Given the description of an element on the screen output the (x, y) to click on. 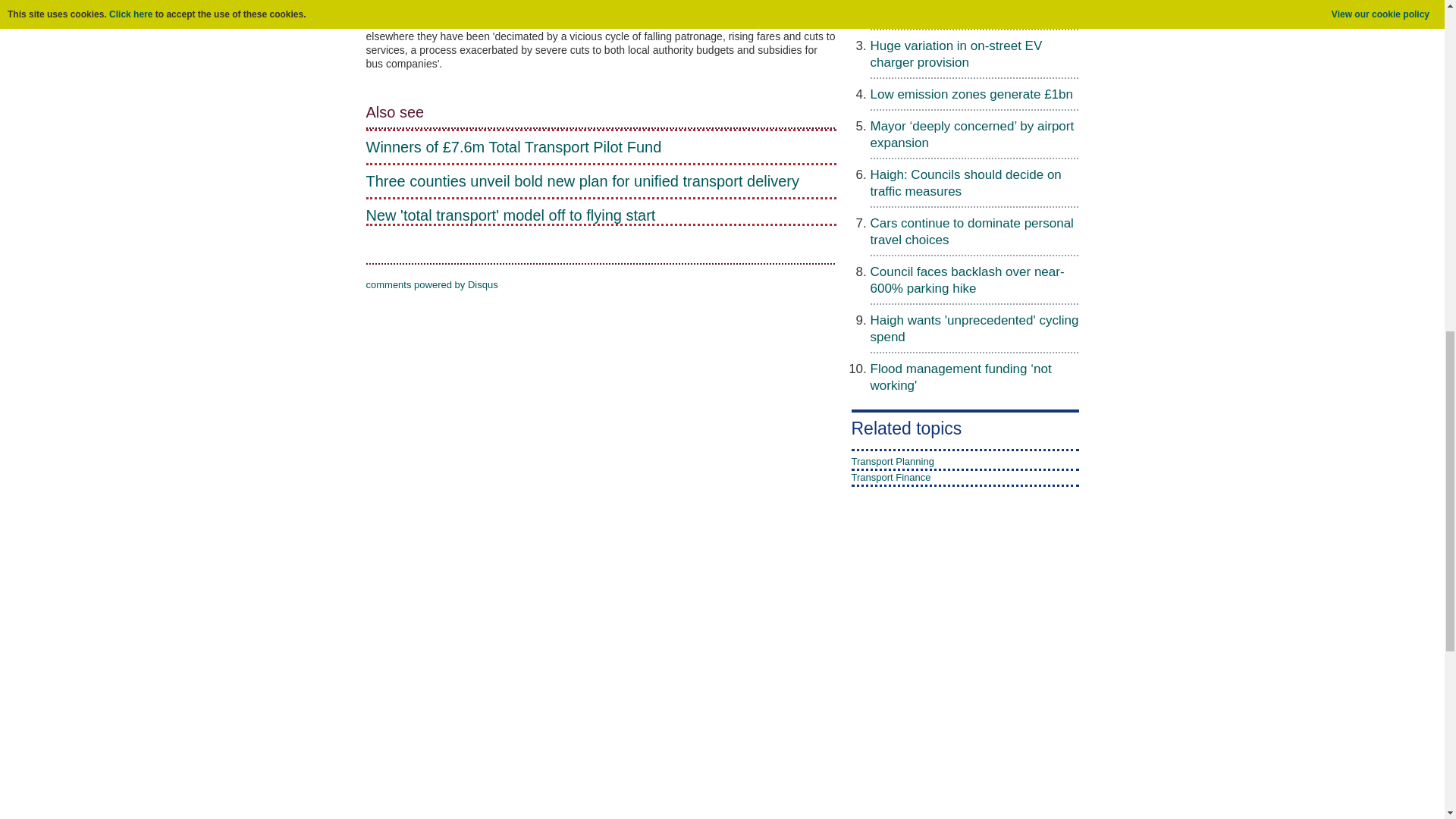
3rd party ad content (907, 670)
New 'total transport' model off to flying start (600, 215)
comments powered by Disqus (431, 284)
3rd party ad content (721, 793)
